Given the description of an element on the screen output the (x, y) to click on. 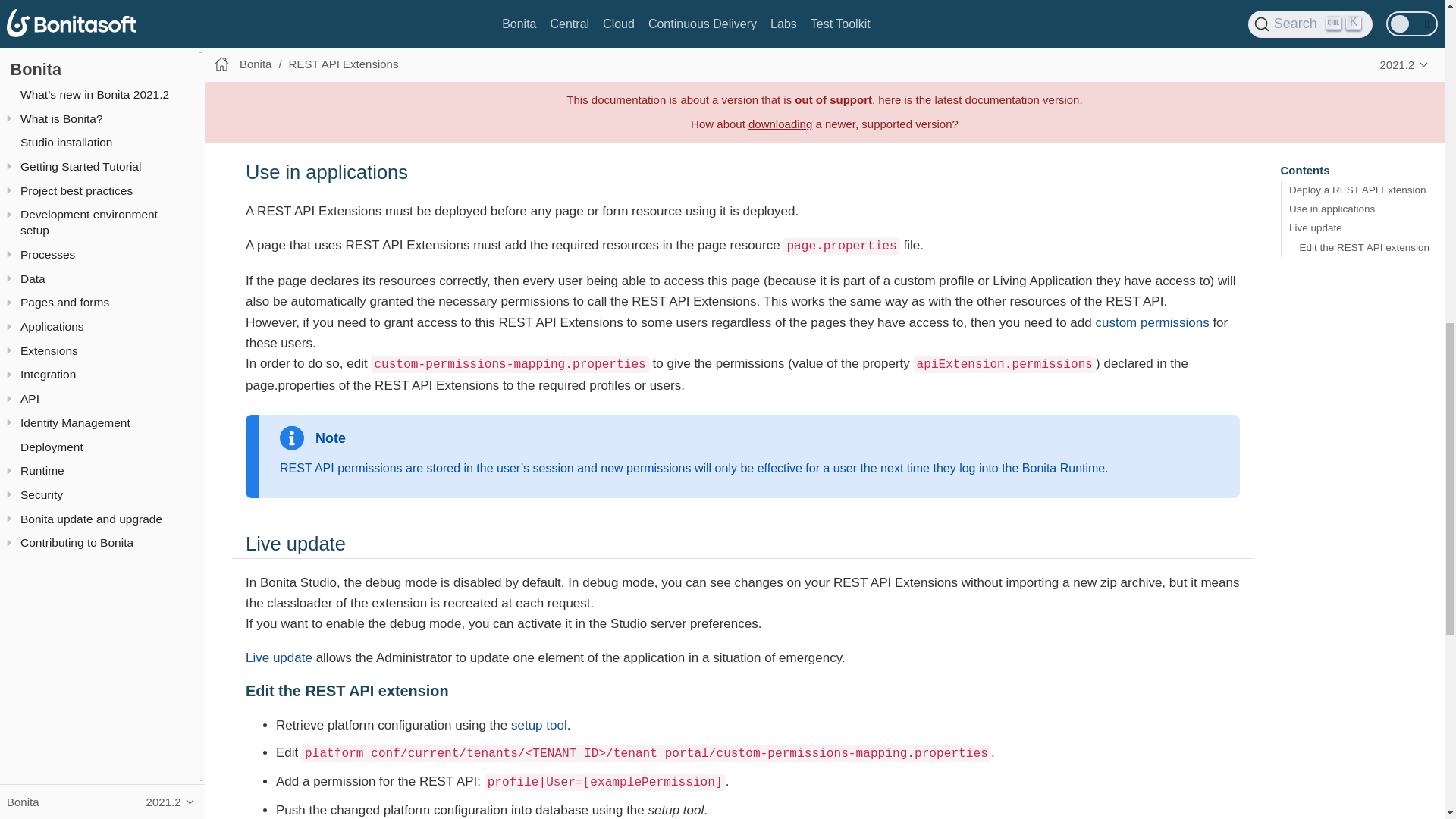
Warning (324, 27)
Note (312, 438)
